Given the description of an element on the screen output the (x, y) to click on. 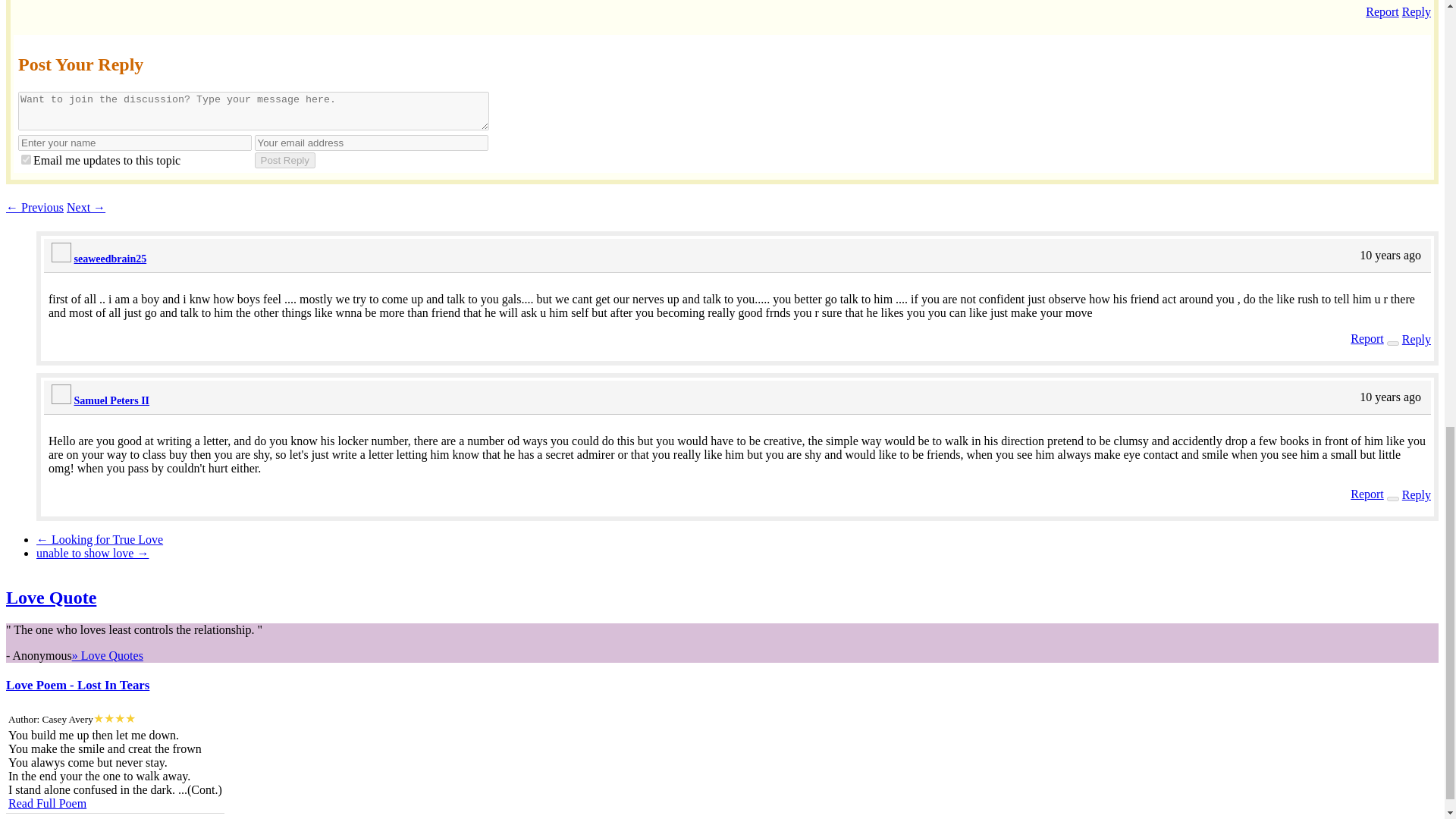
Reply to this message (1416, 338)
Reply to this message (1416, 494)
Post Reply (284, 160)
unable to show love (85, 206)
Select this post to be included in your reply (1393, 498)
Flag response for review (1367, 338)
Reply to this topic (1416, 11)
Flag response for review (1367, 493)
on (25, 159)
Flag topic for review (1382, 11)
unable to show love (92, 553)
Looking for True Love (99, 539)
Looking for True Love (34, 206)
Select this post to be included in your reply (1393, 343)
